Given the description of an element on the screen output the (x, y) to click on. 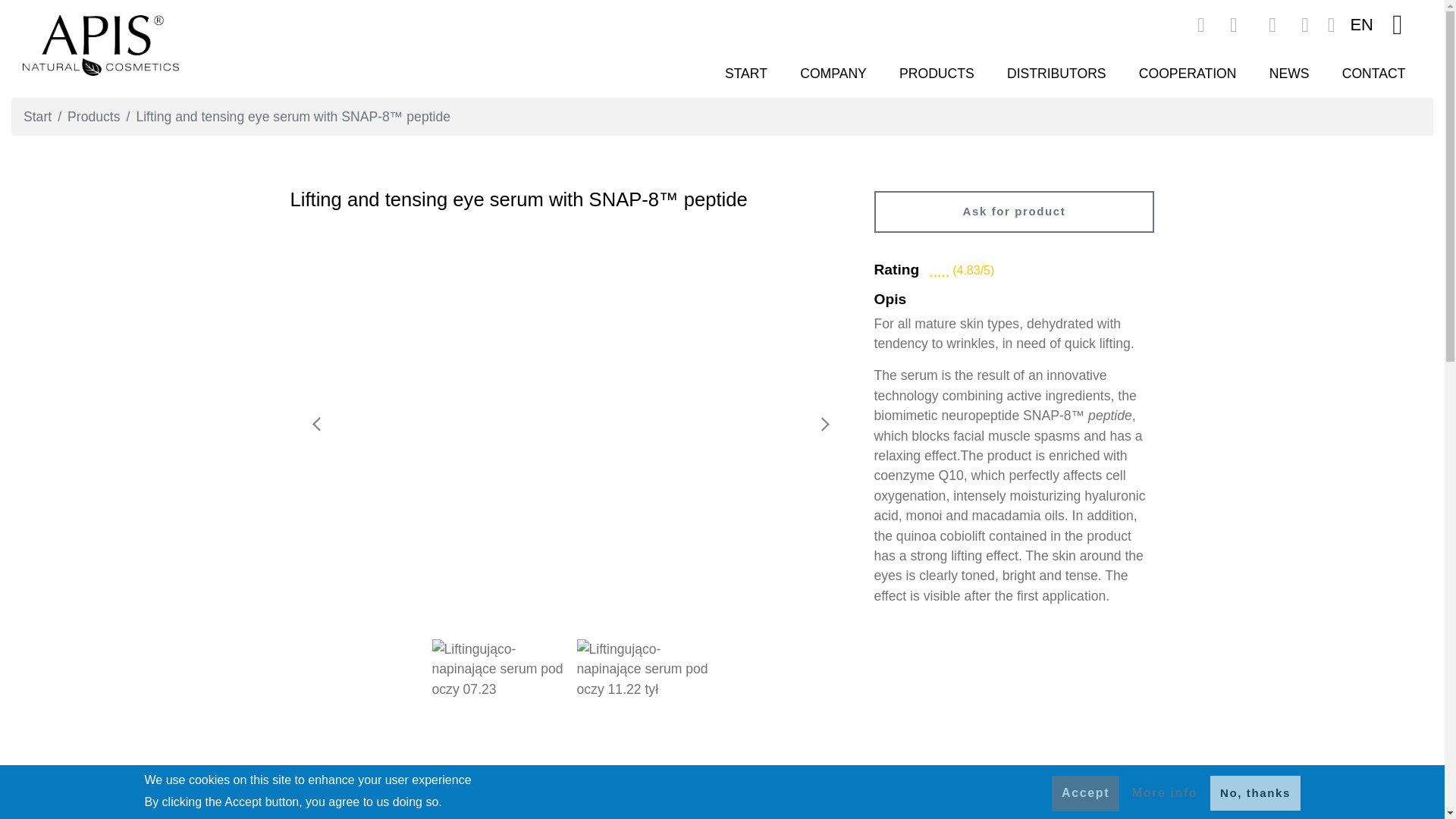
List of products (936, 73)
START (745, 73)
CONTACT (1373, 73)
Start (36, 116)
PRODUCTS (936, 73)
Next (823, 423)
COMPANY (833, 73)
NEWS (1288, 73)
Products (92, 116)
Skip to main content (721, 1)
